Given the description of an element on the screen output the (x, y) to click on. 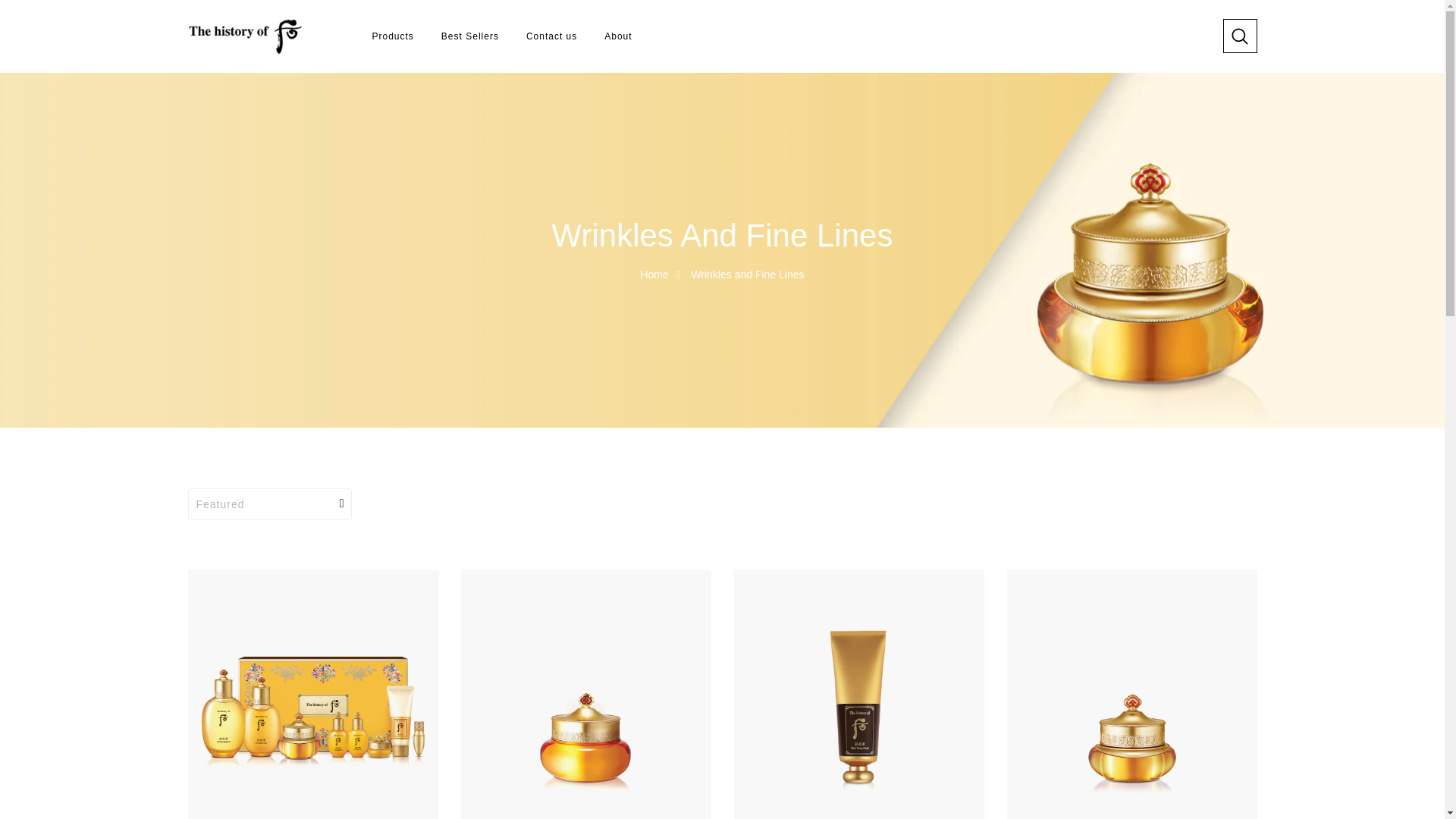
Best Sellers (470, 36)
Products (392, 36)
Contact us (550, 36)
Products (392, 36)
